Given the description of an element on the screen output the (x, y) to click on. 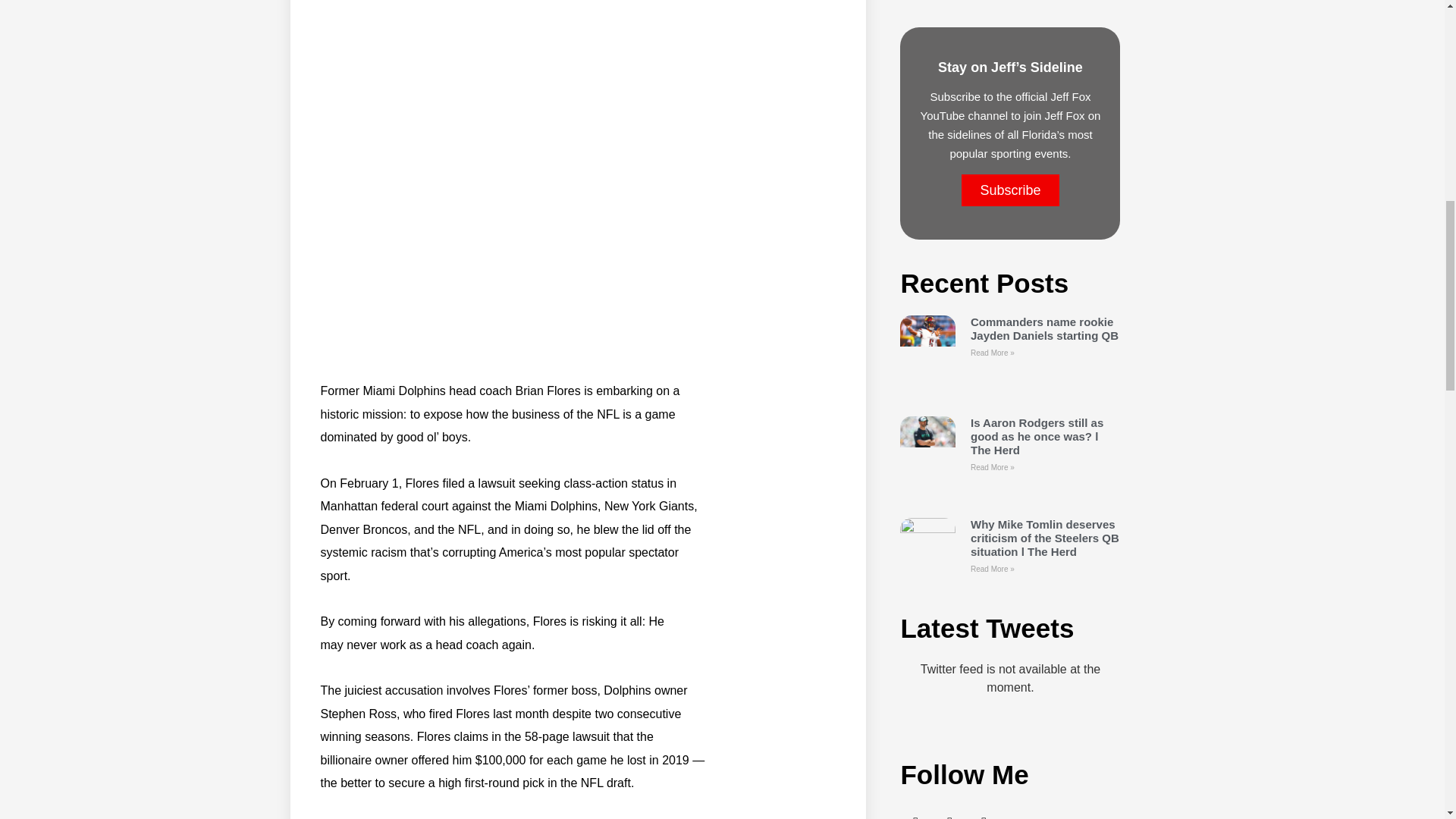
Commanders name rookie Jayden Daniels starting QB (1044, 328)
Is Aaron Rodgers still as good as he once was? l The Herd (1037, 436)
Subscribe (1009, 190)
